Given the description of an element on the screen output the (x, y) to click on. 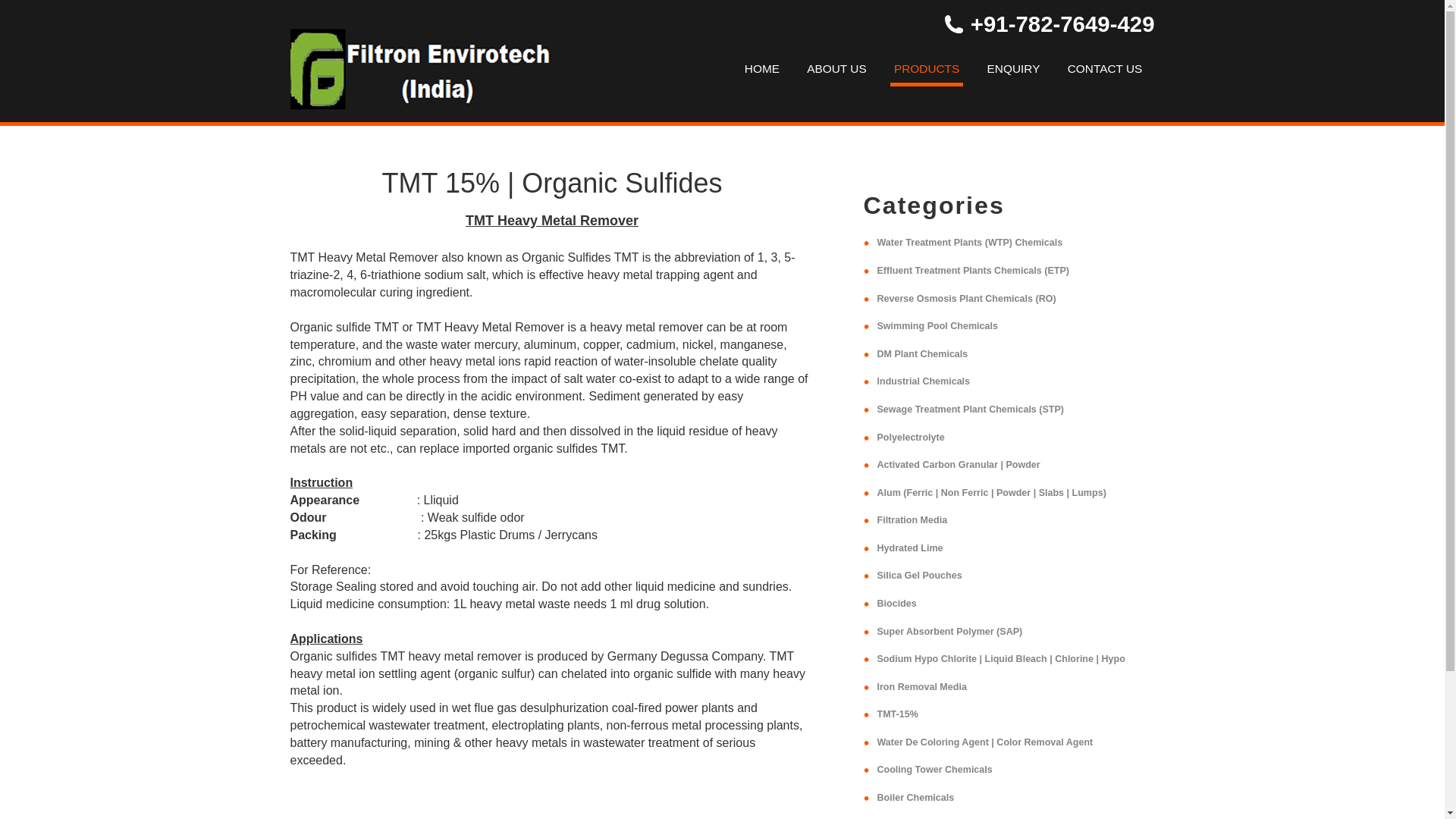
ABOUT US (836, 68)
Polyelectrolyte (909, 437)
Cooling Tower Chemicals (933, 769)
Industrial Chemicals (922, 380)
Hydrated Lime (909, 547)
PRODUCTS (925, 70)
HOME (762, 68)
Iron Removal Media (921, 686)
Silica Gel Pouches (918, 575)
Boiler Chemicals (914, 797)
Biocides (895, 603)
Filtration Media (911, 520)
Swimming Pool Chemicals (936, 326)
DM Plant Chemicals (922, 353)
ENQUIRY (1013, 68)
